Given the description of an element on the screen output the (x, y) to click on. 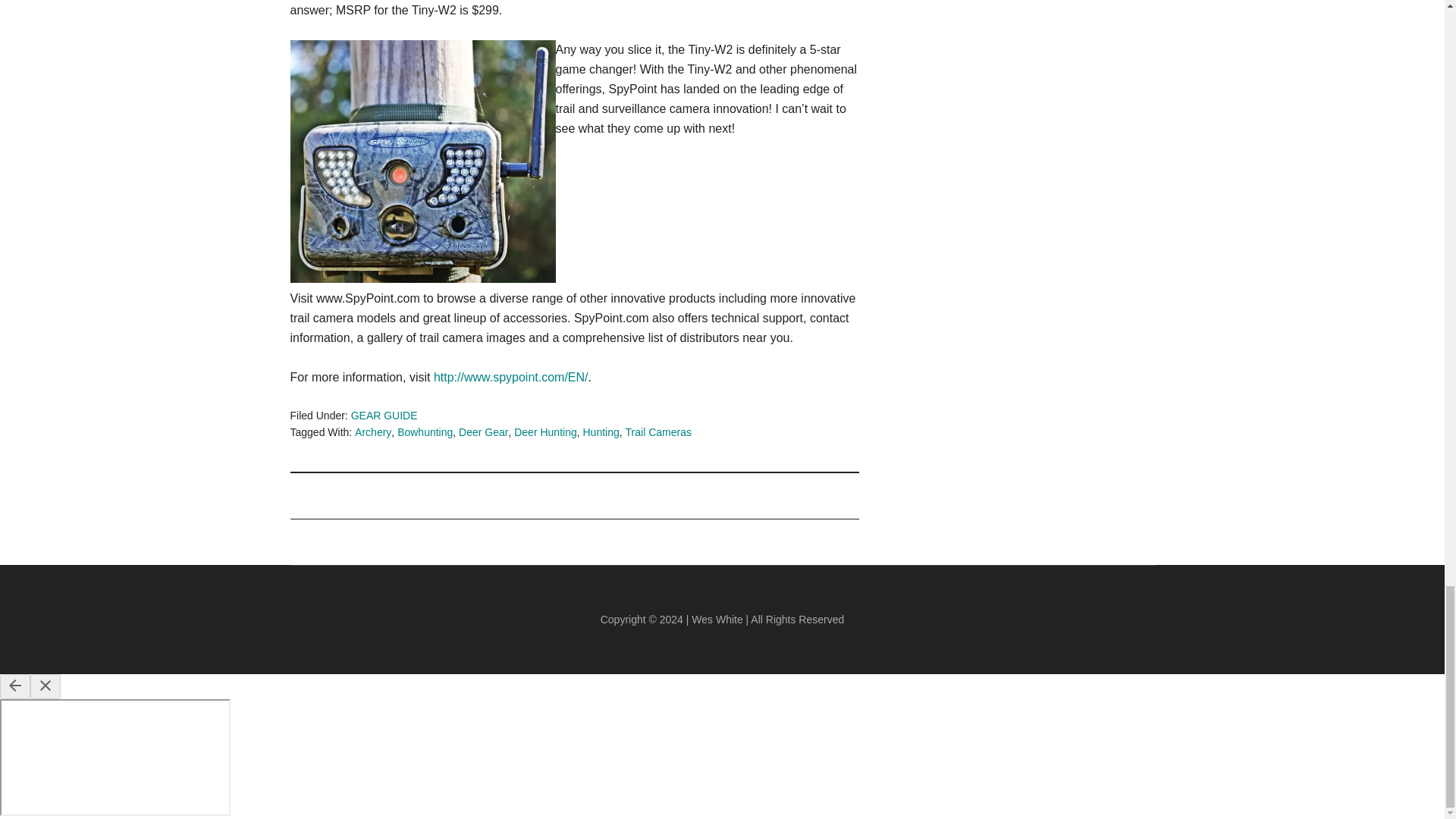
Deer Hunting (544, 431)
Deer Gear (483, 431)
GEAR GUIDE (383, 415)
Bowhunting (424, 431)
Archery (373, 431)
Trail Cameras (658, 431)
Hunting (600, 431)
